Given the description of an element on the screen output the (x, y) to click on. 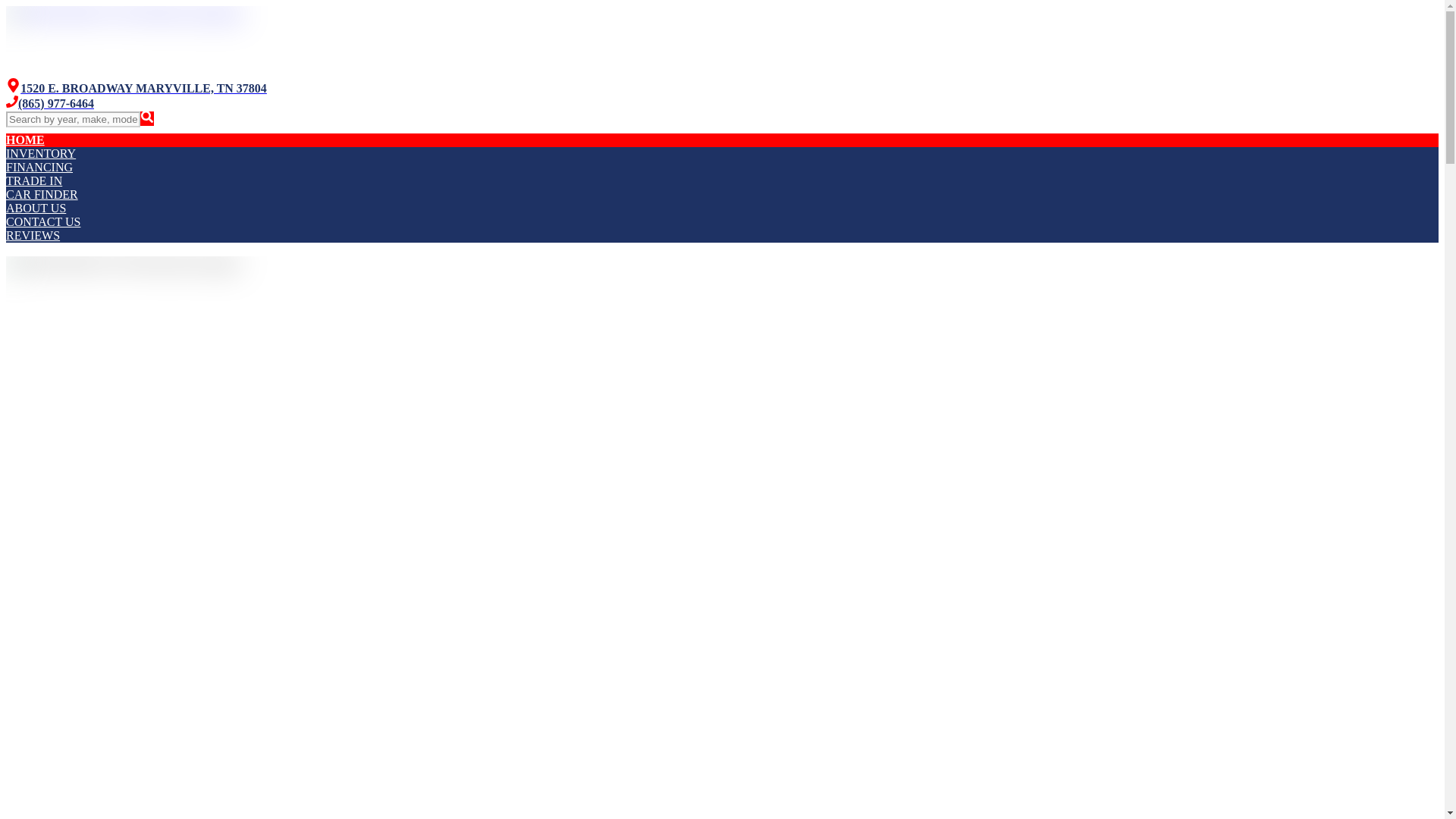
FINANCING (38, 166)
REVIEWS (32, 235)
INVENTORY (40, 153)
1520 E. BROADWAY MARYVILLE, TN 37804 (135, 88)
CONTACT US (42, 221)
TRADE IN (33, 180)
CAR FINDER (41, 194)
HOME (25, 139)
ABOUT US (35, 207)
